Given the description of an element on the screen output the (x, y) to click on. 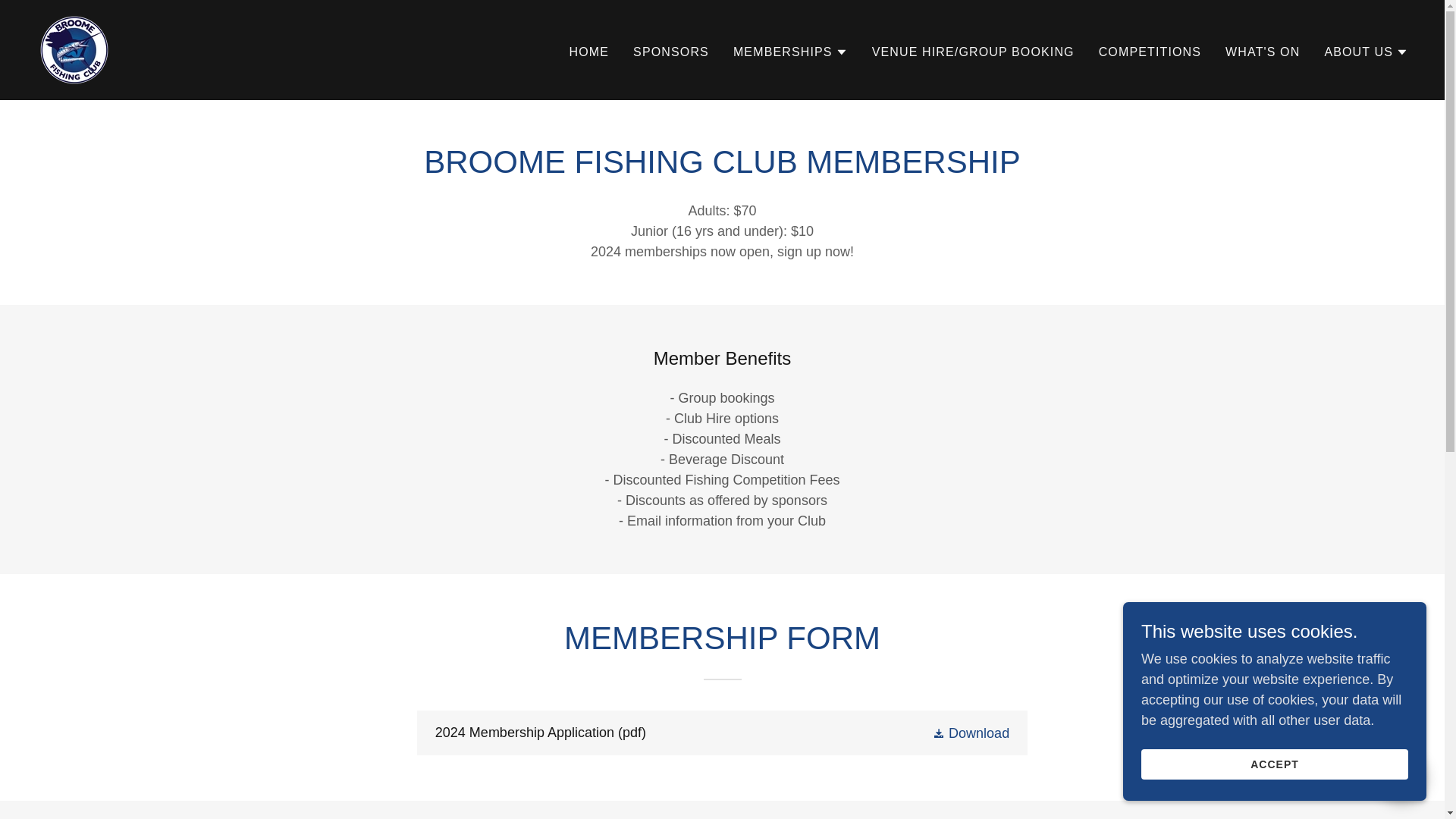
HOME (589, 51)
MEMBERSHIPS (790, 51)
SPONSORS (670, 51)
COMPETITIONS (1149, 51)
ABOUT US (1365, 51)
WHAT'S ON (1262, 51)
